Given the description of an element on the screen output the (x, y) to click on. 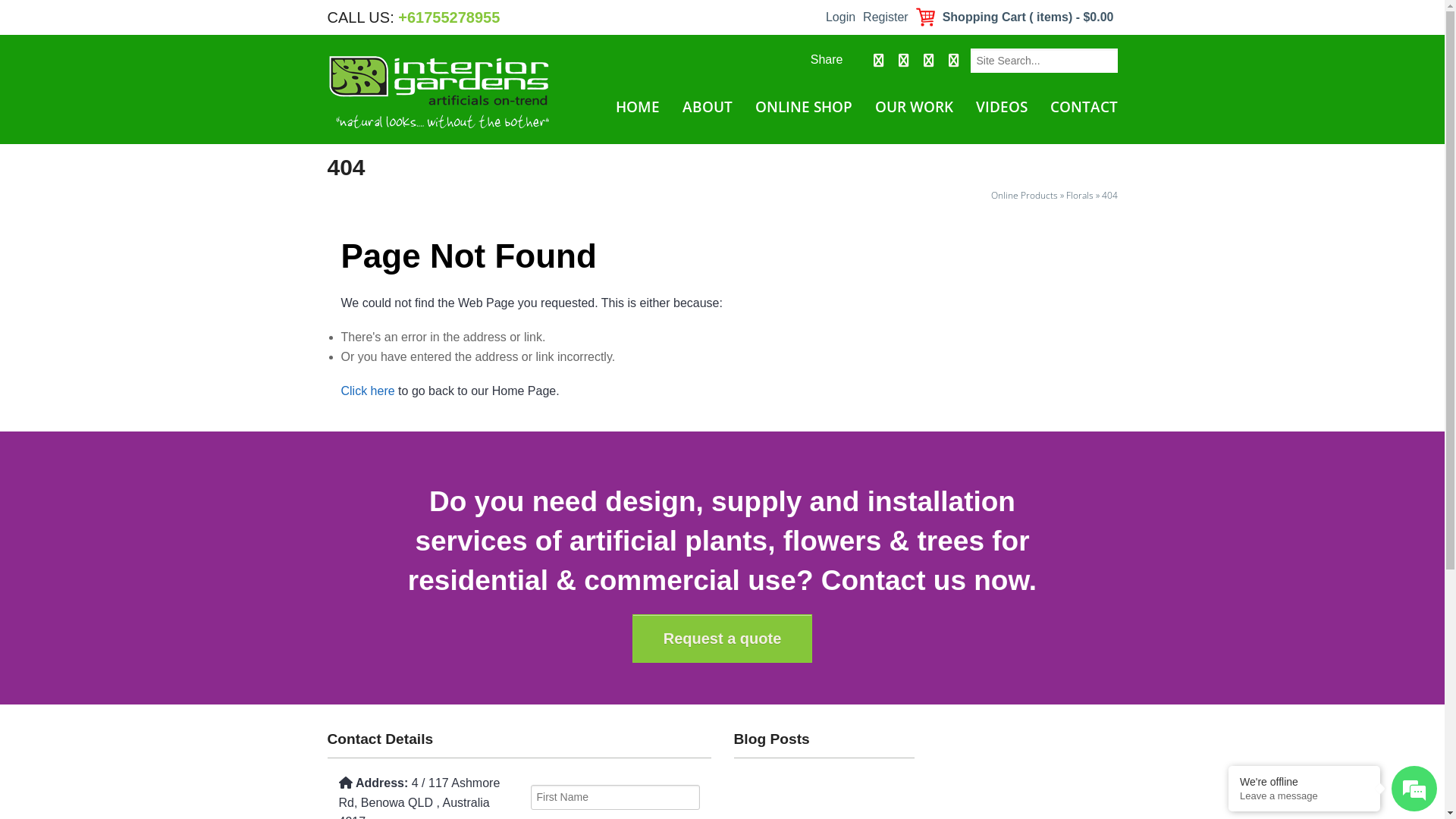
ONLINE SHOP Element type: text (802, 106)
ABOUT Element type: text (706, 106)
pinterest Element type: hover (952, 60)
OUR WORK Element type: text (913, 106)
Click here Element type: text (368, 390)
Register Element type: text (885, 17)
linkedin Element type: hover (902, 60)
Request a quote Element type: text (722, 638)
+61755278955 Element type: text (448, 17)
Login Element type: text (840, 17)
Google+ Element type: hover (928, 60)
HOME Element type: text (636, 106)
VIDEOS Element type: text (1001, 106)
CONTACT Element type: text (1081, 106)
facebook Element type: hover (874, 60)
Shopping Cart ( items) - $0.00 Element type: text (1014, 17)
